Given the description of an element on the screen output the (x, y) to click on. 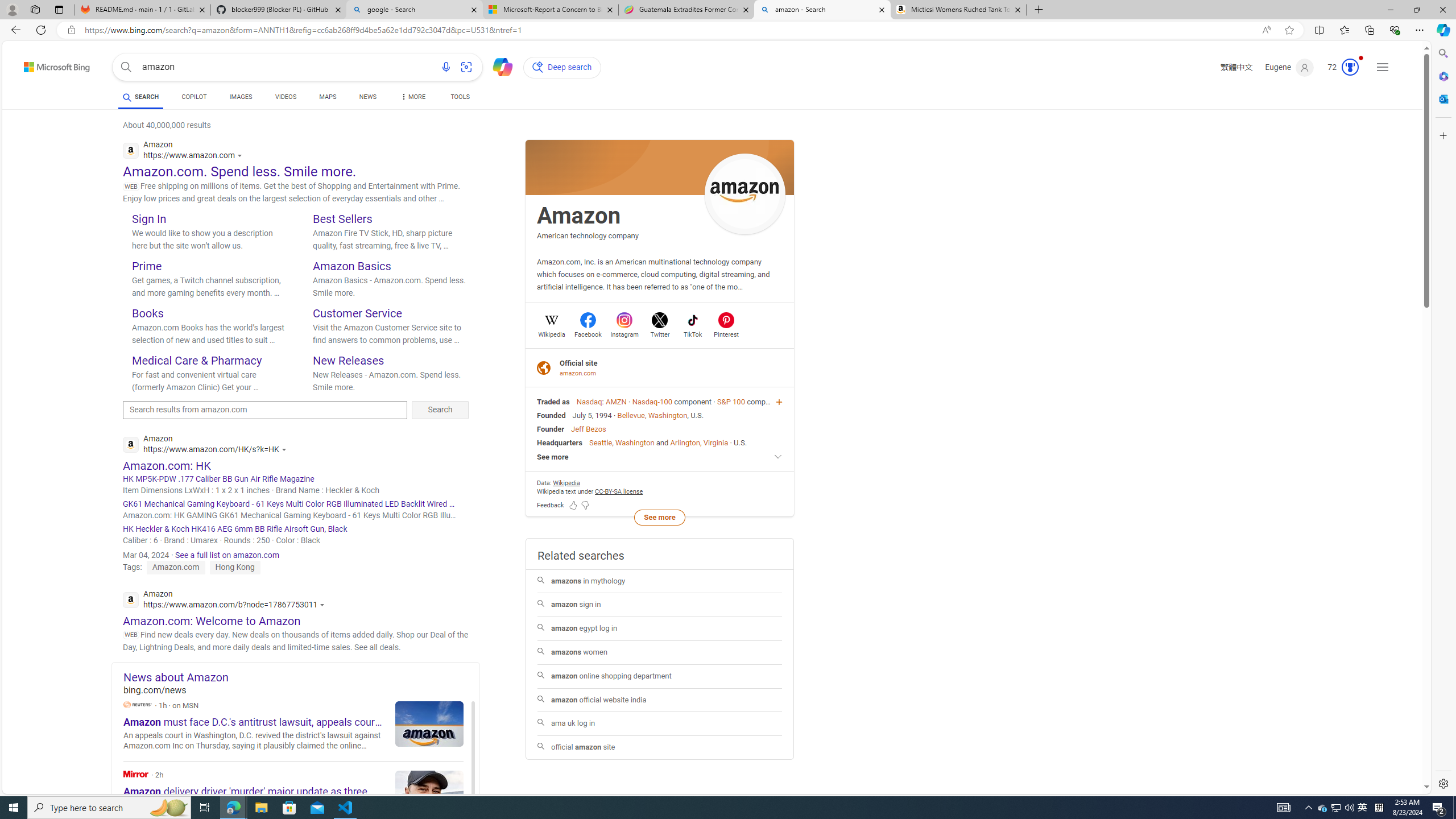
Tags: Amazon.com Hong Kong (191, 567)
IMAGES (240, 98)
amazon egypt log in (659, 628)
The Mirror (135, 773)
Class: sp-ofsite (543, 367)
IMAGES (240, 96)
Chat (497, 65)
bing.com/news (301, 689)
Side bar (1443, 418)
